Given the description of an element on the screen output the (x, y) to click on. 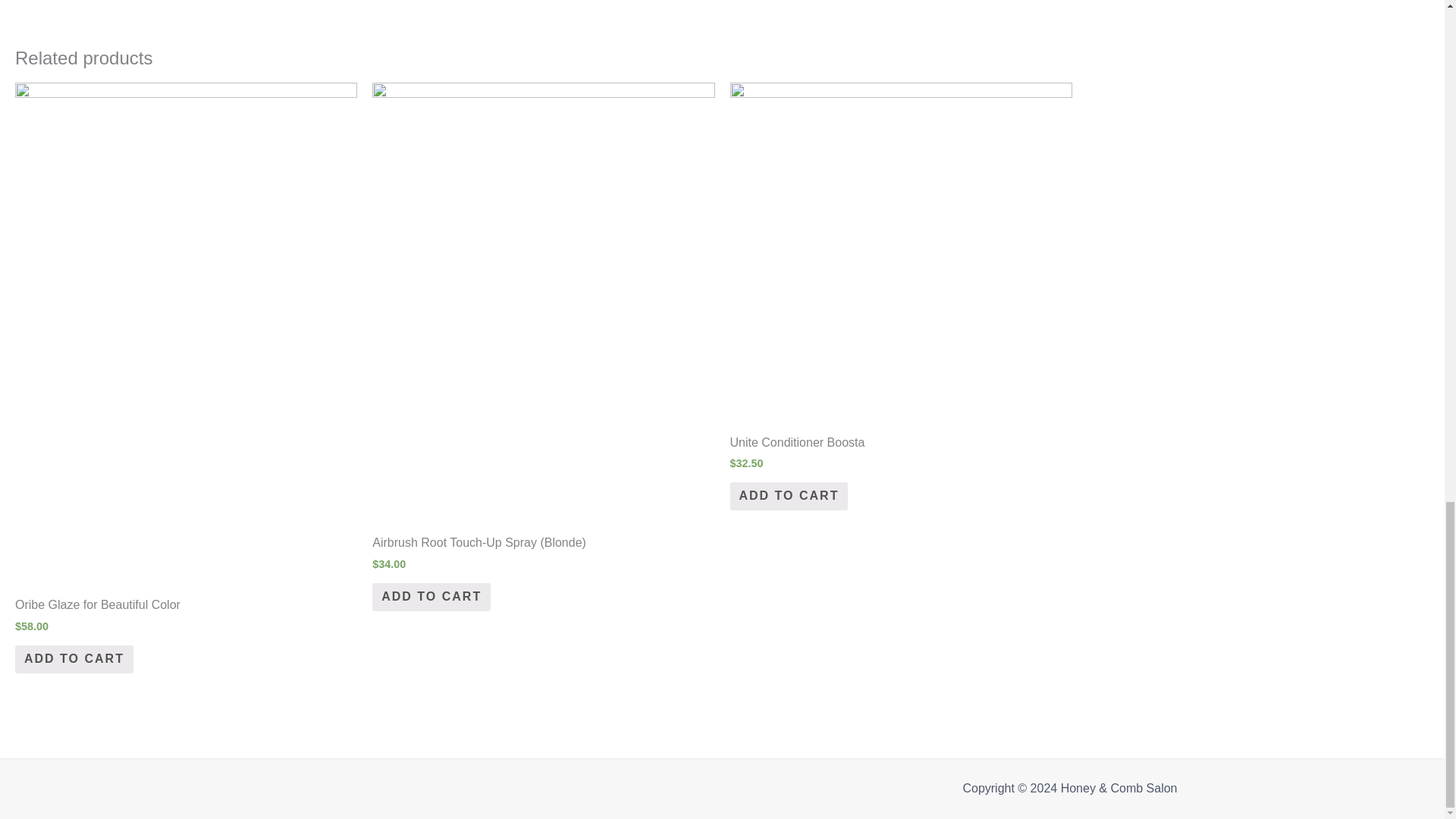
ADD TO CART (431, 596)
ADD TO CART (73, 659)
ADD TO CART (788, 496)
Oribe Glaze for Beautiful Color (185, 605)
Unite Conditioner Boosta (900, 442)
